Given the description of an element on the screen output the (x, y) to click on. 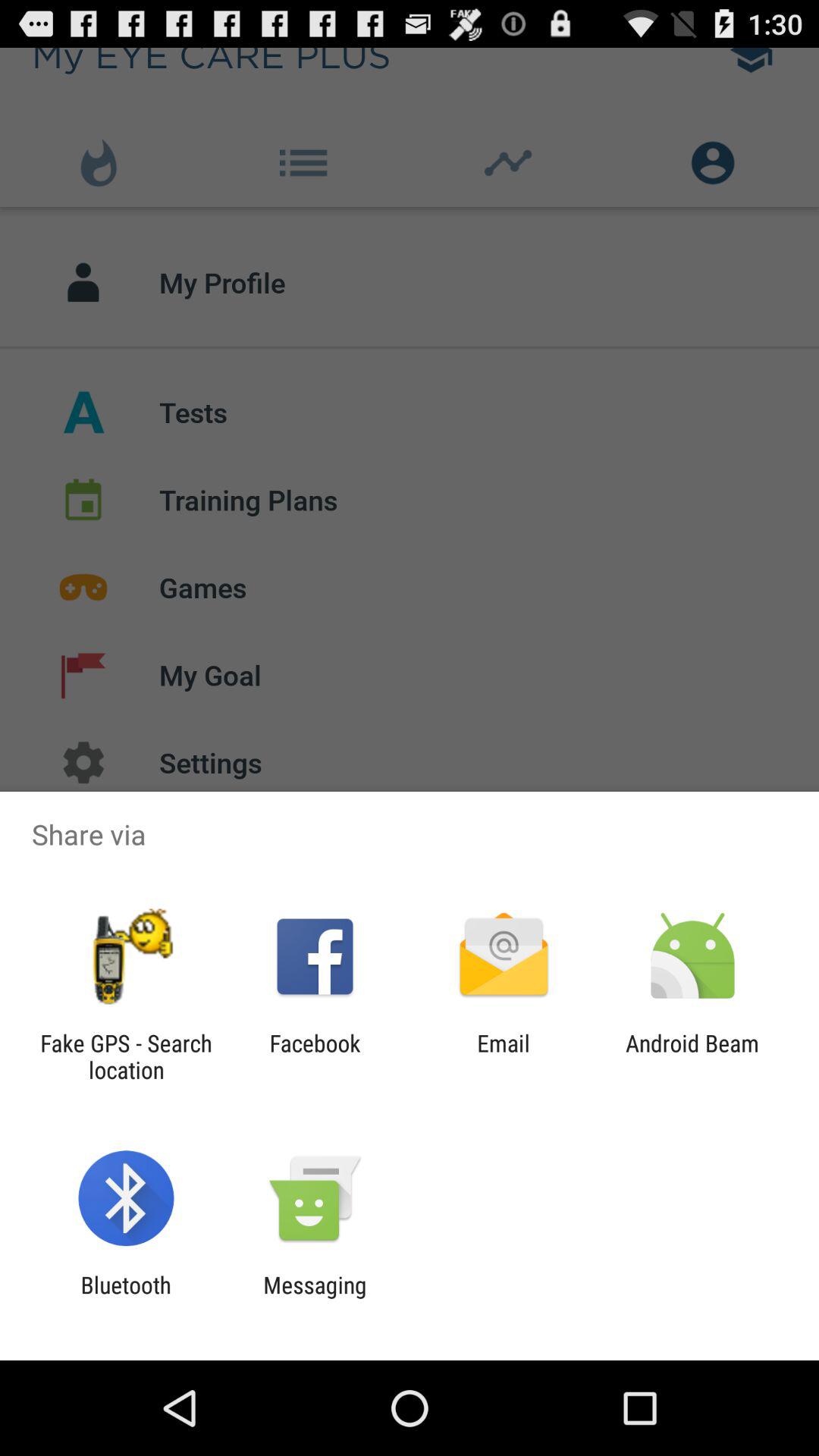
turn off the item to the right of fake gps search app (314, 1056)
